Given the description of an element on the screen output the (x, y) to click on. 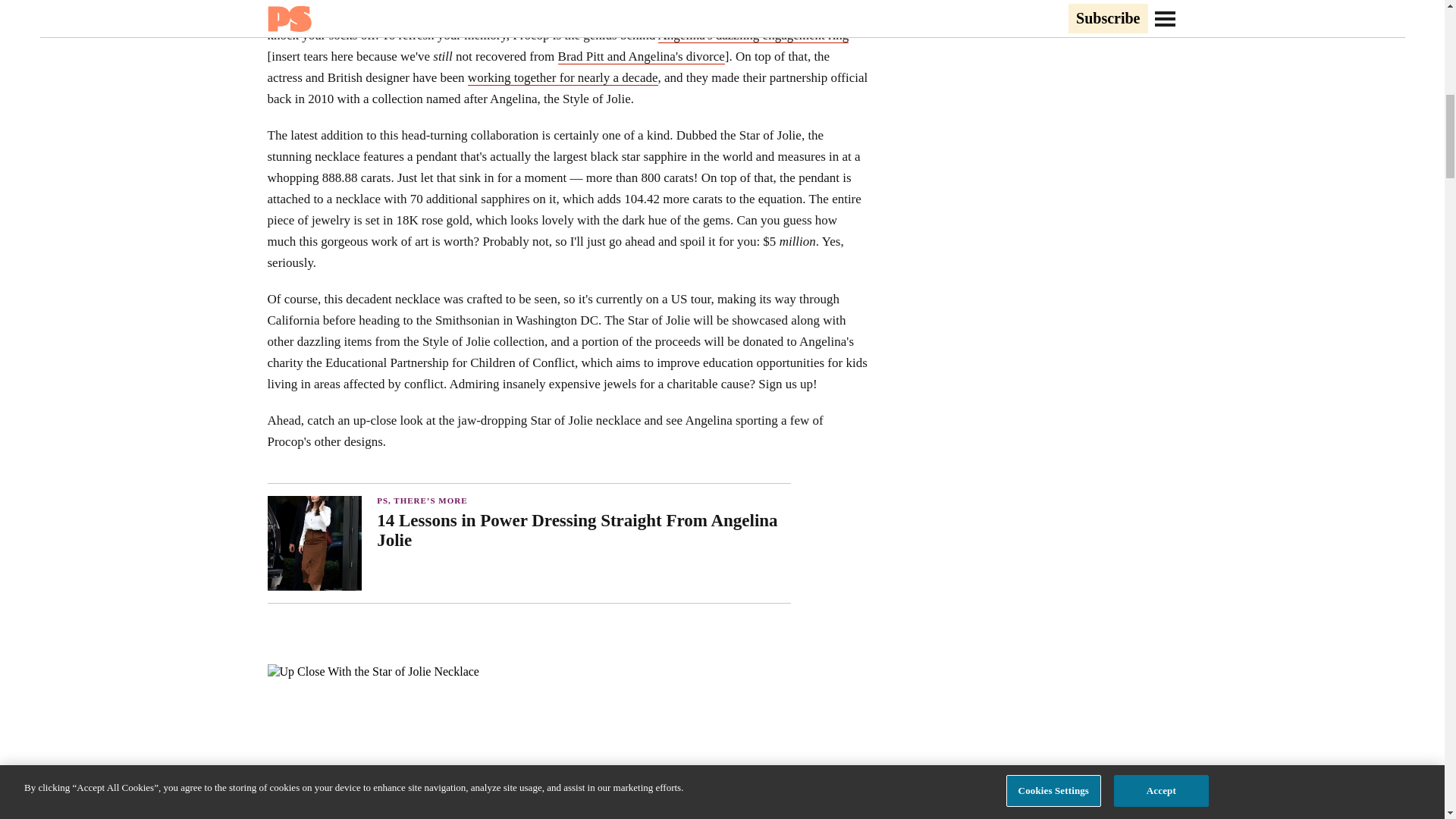
Angelina's dazzling engagement ring (753, 35)
14 Lessons in Power Dressing Straight From Angelina Jolie (583, 530)
Brad Pitt and Angelina's divorce (641, 56)
working together for nearly a decade (562, 77)
